Given the description of an element on the screen output the (x, y) to click on. 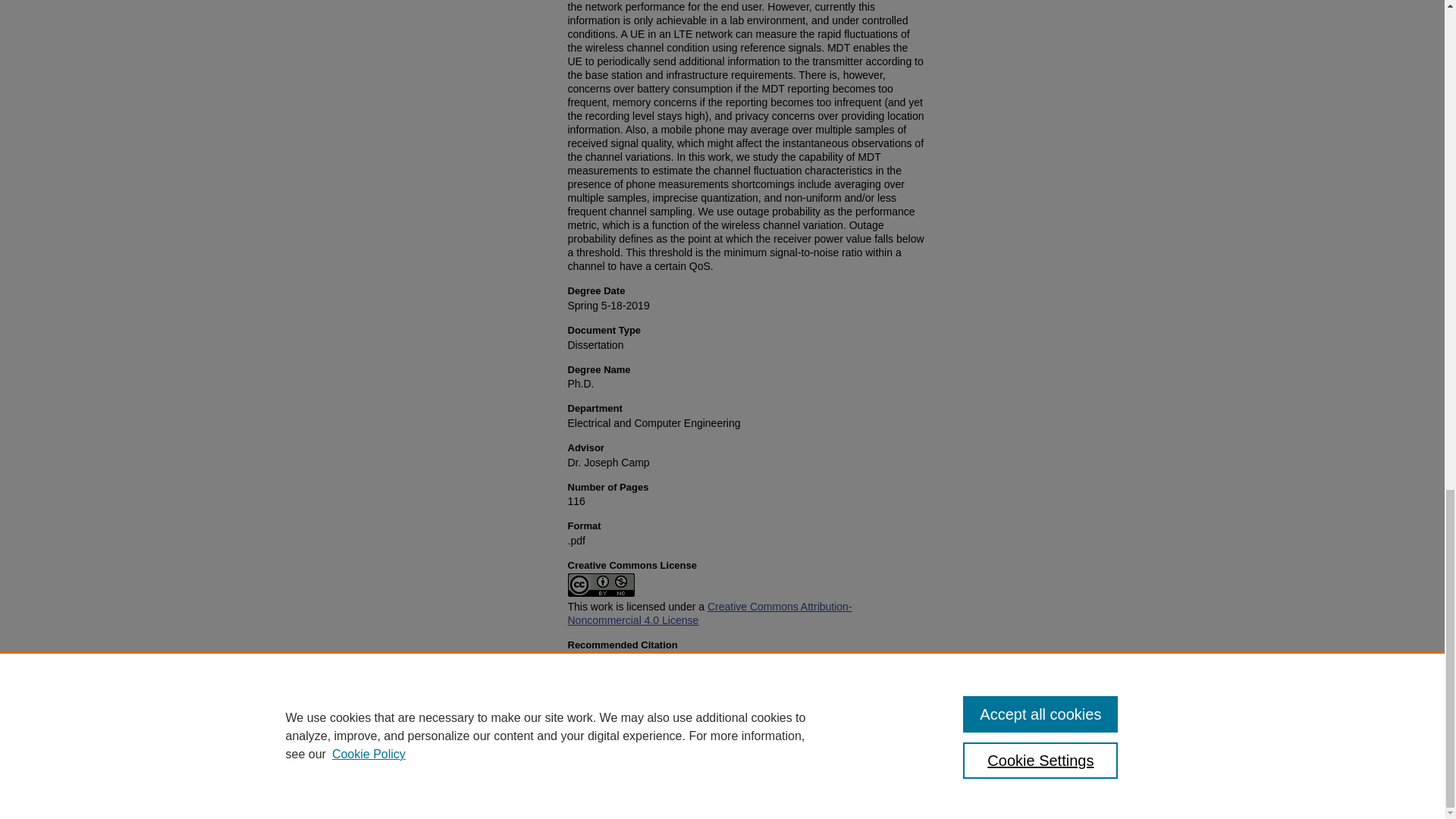
Creative Commons Attribution-Noncommercial 4.0 License (709, 613)
